Given the description of an element on the screen output the (x, y) to click on. 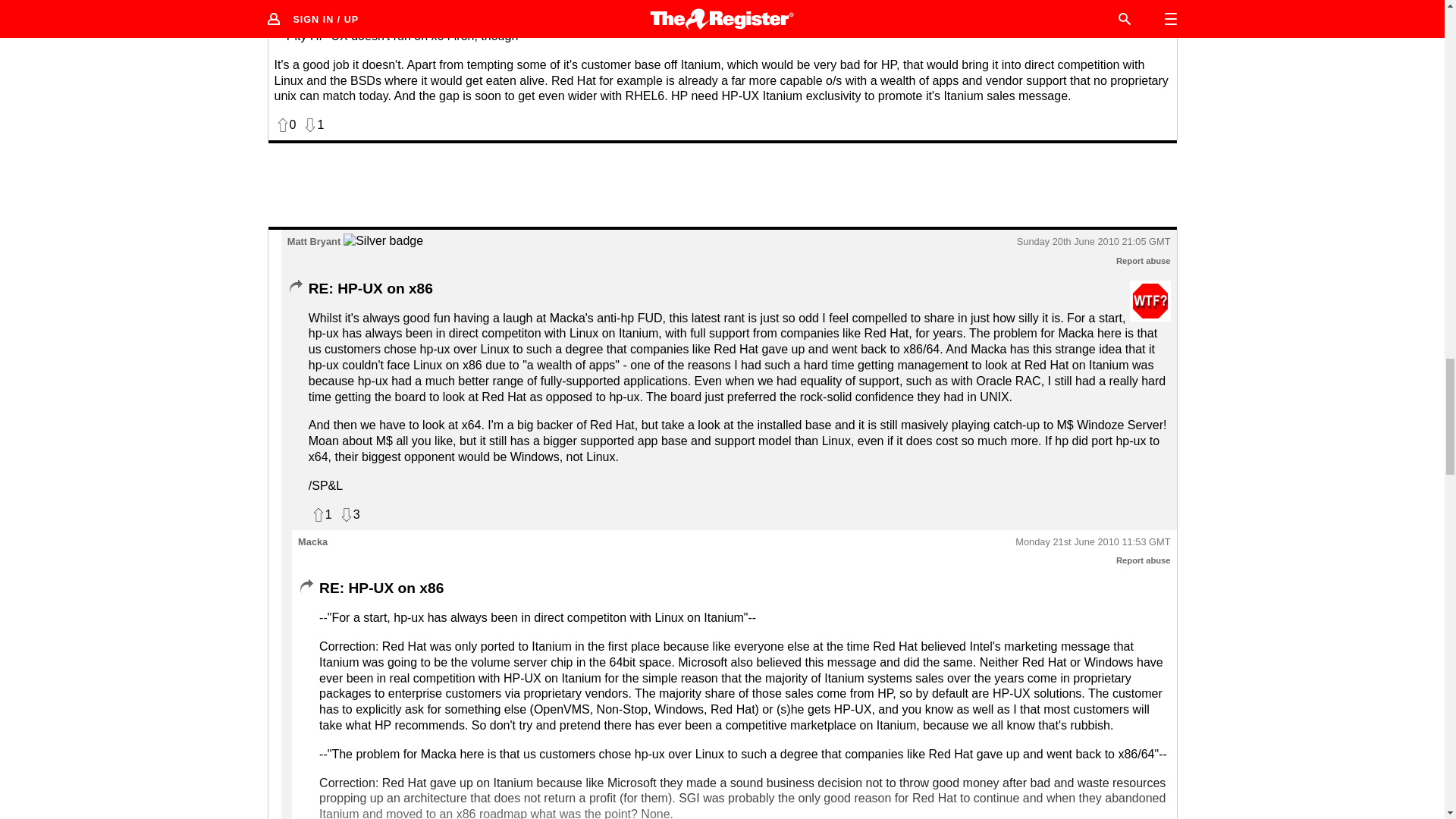
Report abuse (1143, 560)
Report abuse (1143, 260)
